Given the description of an element on the screen output the (x, y) to click on. 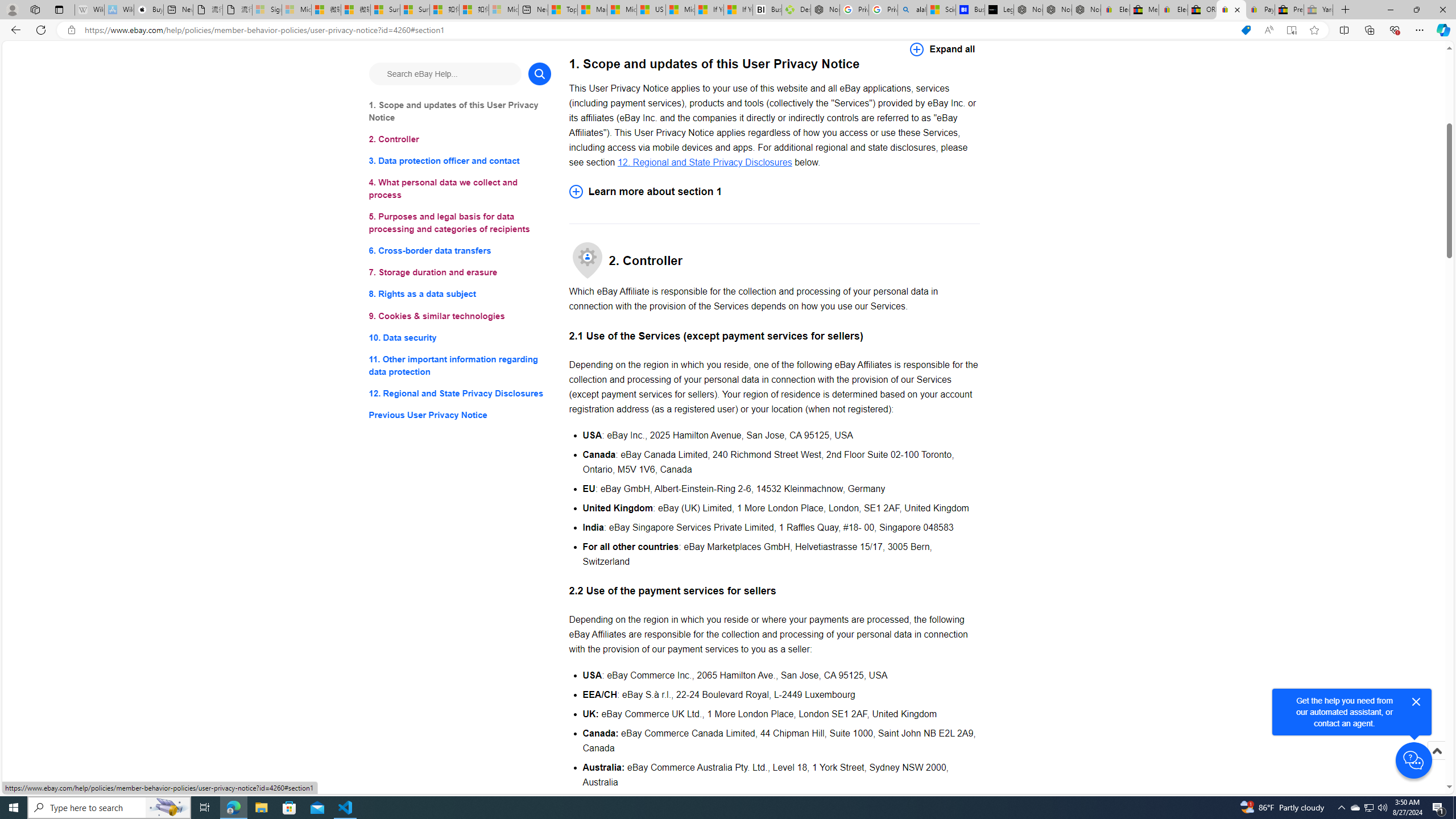
This site has coupons! Shopping in Microsoft Edge (1245, 29)
8. Rights as a data subject (459, 293)
2. Controller (459, 138)
